Given the description of an element on the screen output the (x, y) to click on. 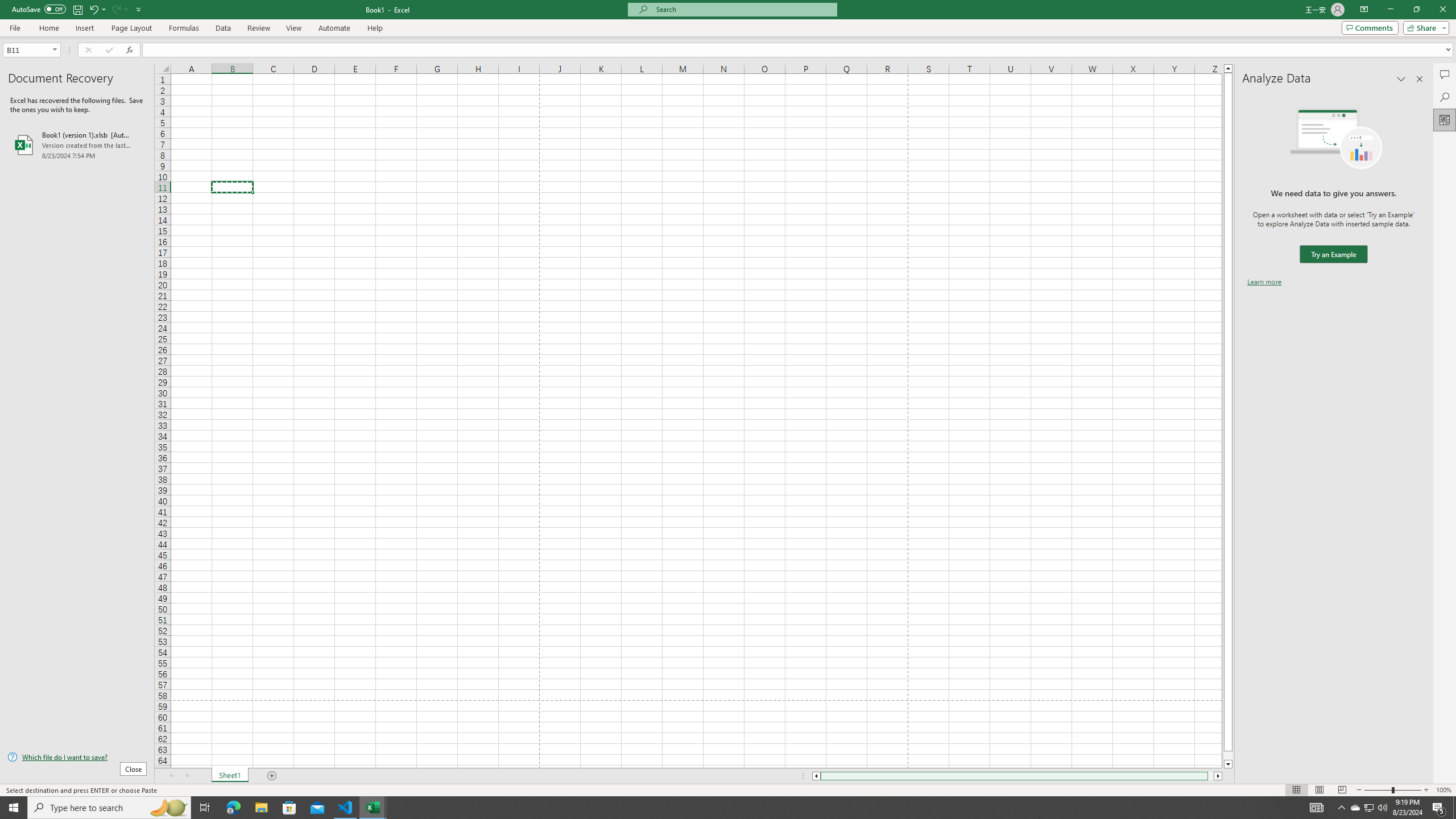
We need data to give you answers. Try an Example (1333, 253)
Page down (1228, 755)
Search (1444, 96)
Restore Down (1416, 9)
